Given the description of an element on the screen output the (x, y) to click on. 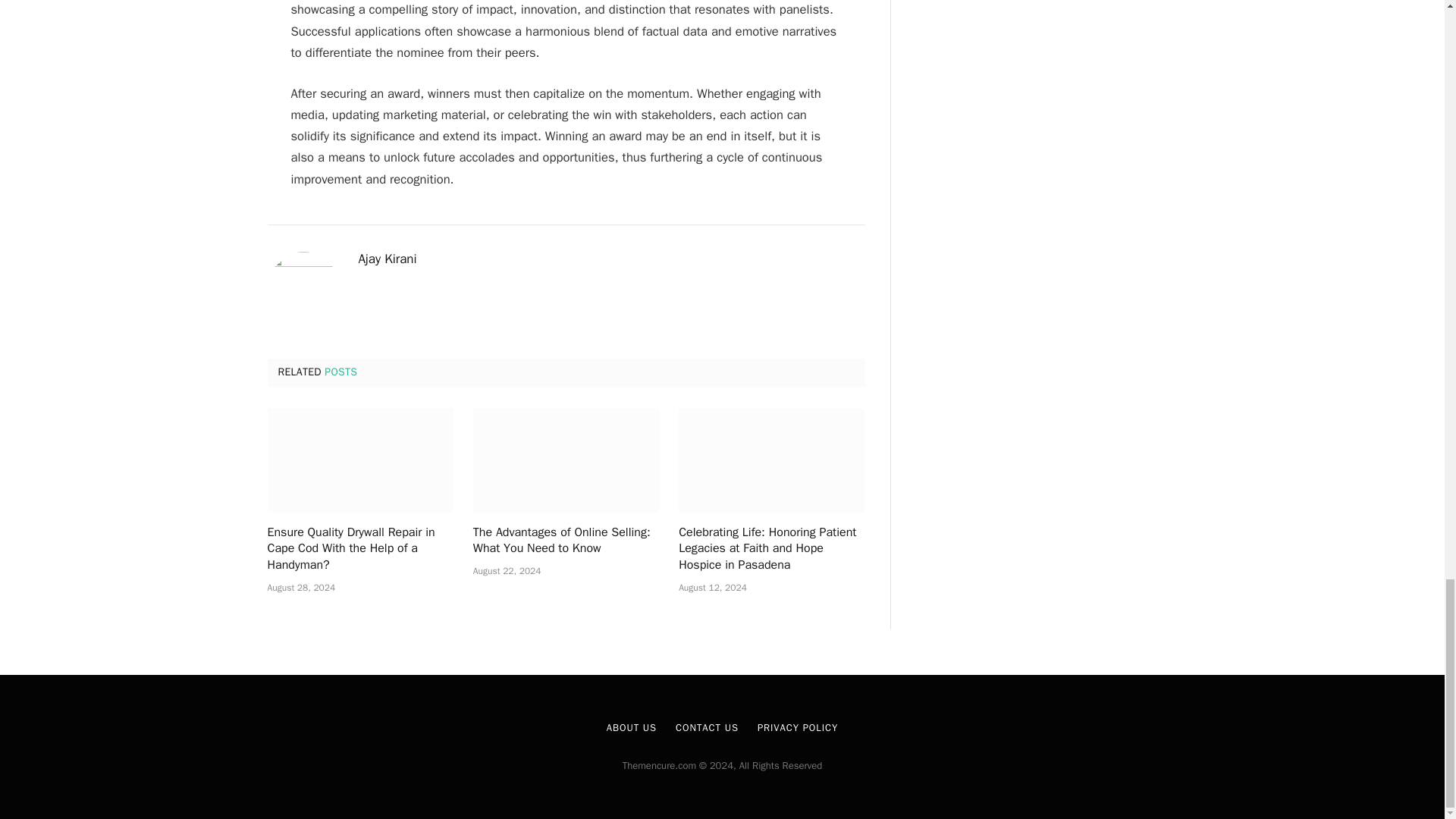
The Advantages of Online Selling: What You Need to Know (566, 459)
The Advantages of Online Selling: What You Need to Know (566, 540)
Posts by Ajay Kirani (387, 258)
Ajay Kirani (387, 258)
